Given the description of an element on the screen output the (x, y) to click on. 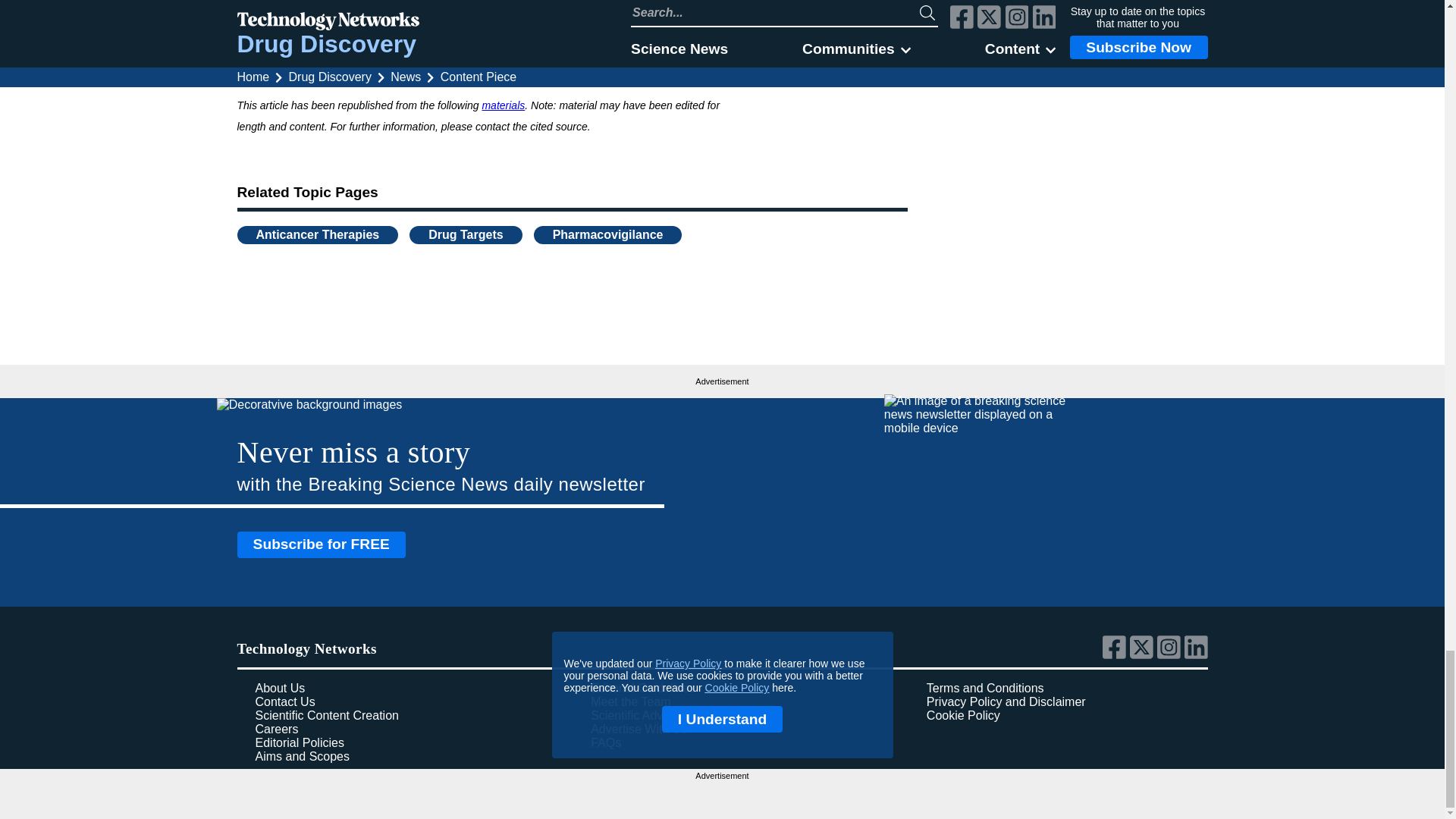
Link to Technology Networks' twitter page (1143, 655)
Link to Technology Networks' facebook page (1115, 655)
Link to Technology Networks' linkedin page (1196, 655)
Link to Technology Networks' instagram page (1171, 655)
